Given the description of an element on the screen output the (x, y) to click on. 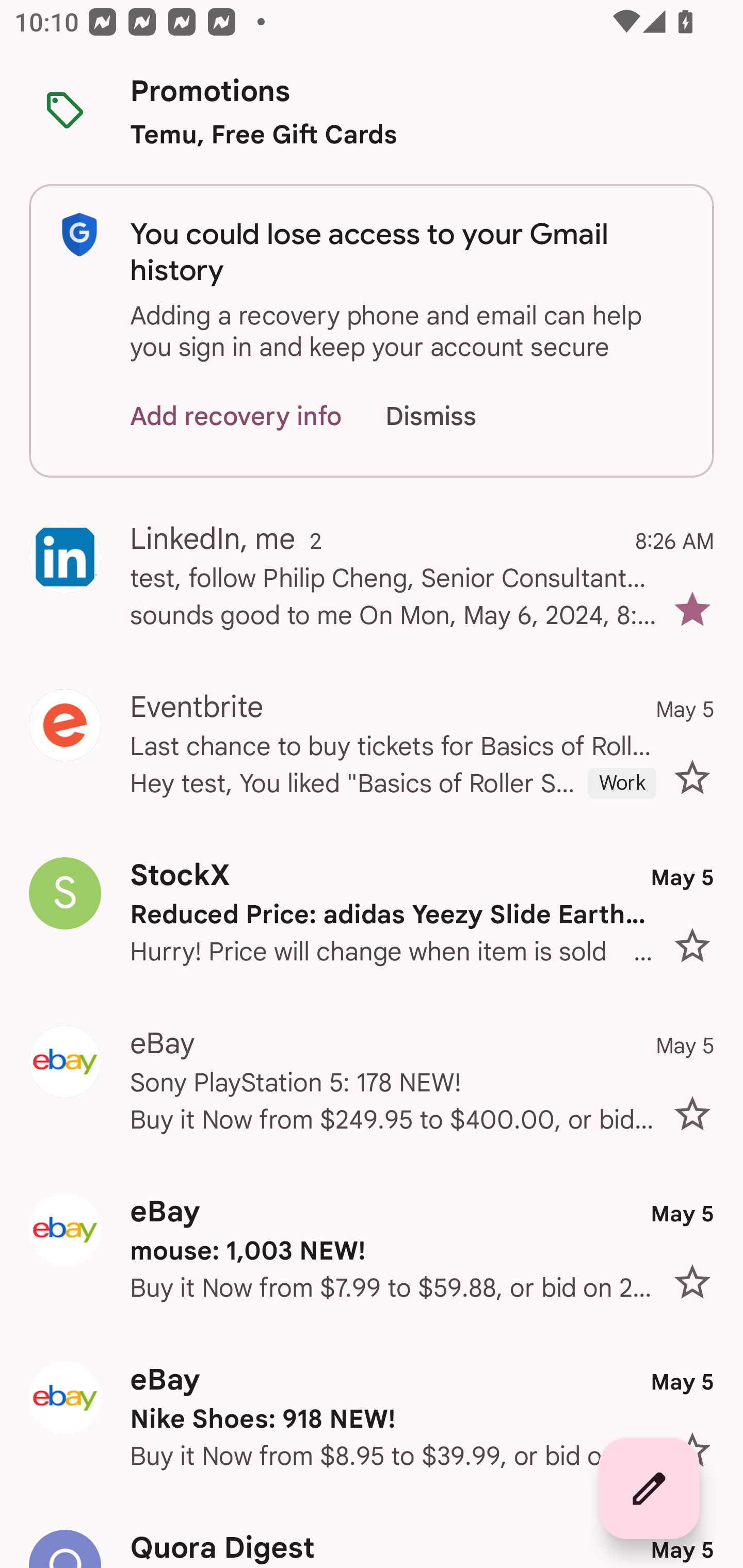
Promotions Temu, Free Gift Cards (371, 111)
Add recovery info (235, 416)
Dismiss (449, 416)
Compose (648, 1488)
